Given the description of an element on the screen output the (x, y) to click on. 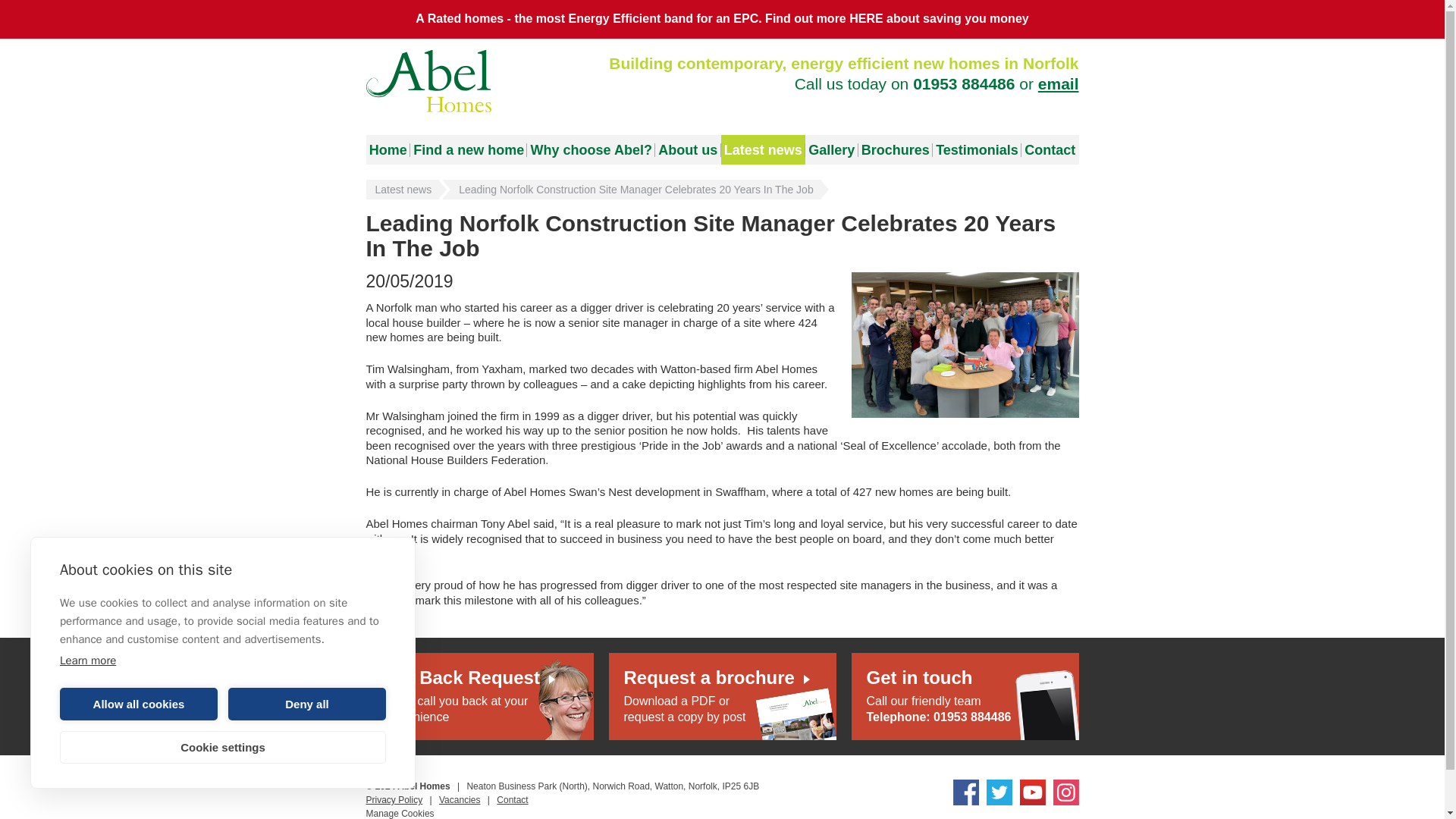
Privacy Policy (393, 799)
Manage Cookies (478, 696)
Facebook (399, 813)
Abel Homes (965, 792)
Vacancies (427, 80)
Latest news (459, 799)
Home (402, 189)
Gallery (387, 150)
